Given the description of an element on the screen output the (x, y) to click on. 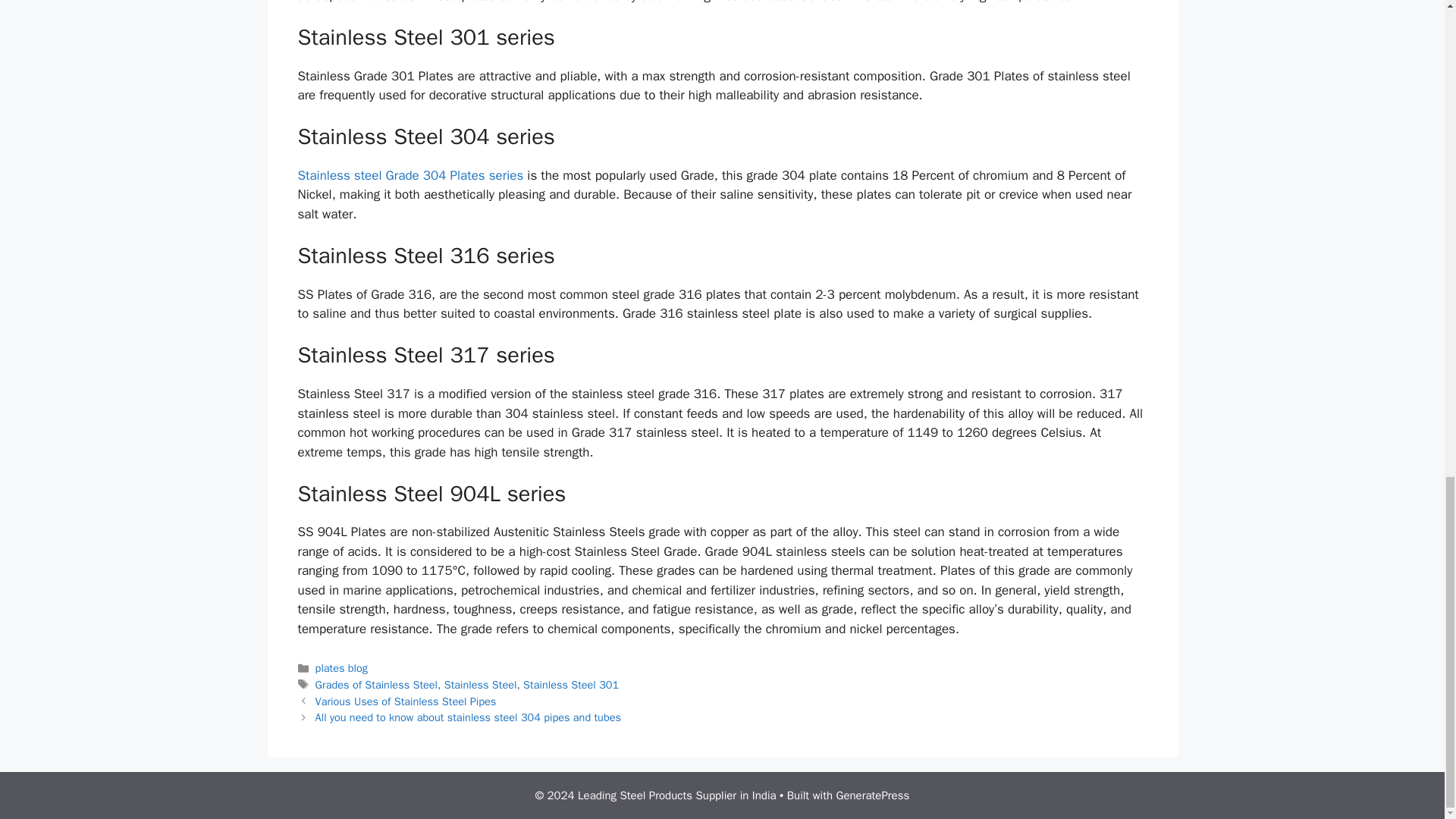
plates blog (341, 667)
Various Uses of Stainless Steel Pipes (405, 701)
Stainless steel Grade 304 Plates series (409, 175)
Stainless Steel 301 (570, 684)
Next (468, 716)
GeneratePress (872, 795)
Grades of Stainless Steel (376, 684)
Previous (405, 701)
Stainless Steel (480, 684)
